Given the description of an element on the screen output the (x, y) to click on. 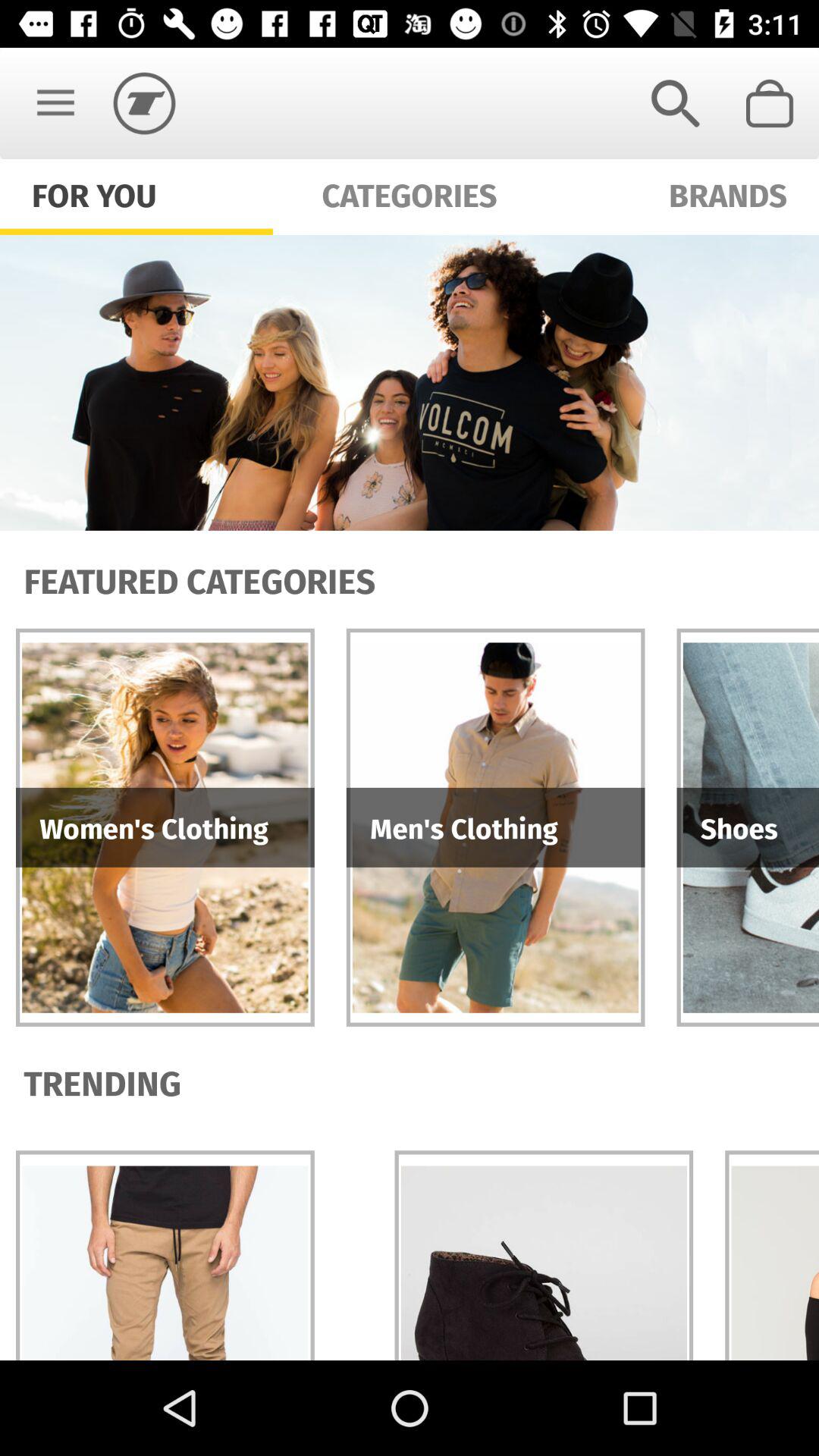
advertisement banner (409, 382)
